Given the description of an element on the screen output the (x, y) to click on. 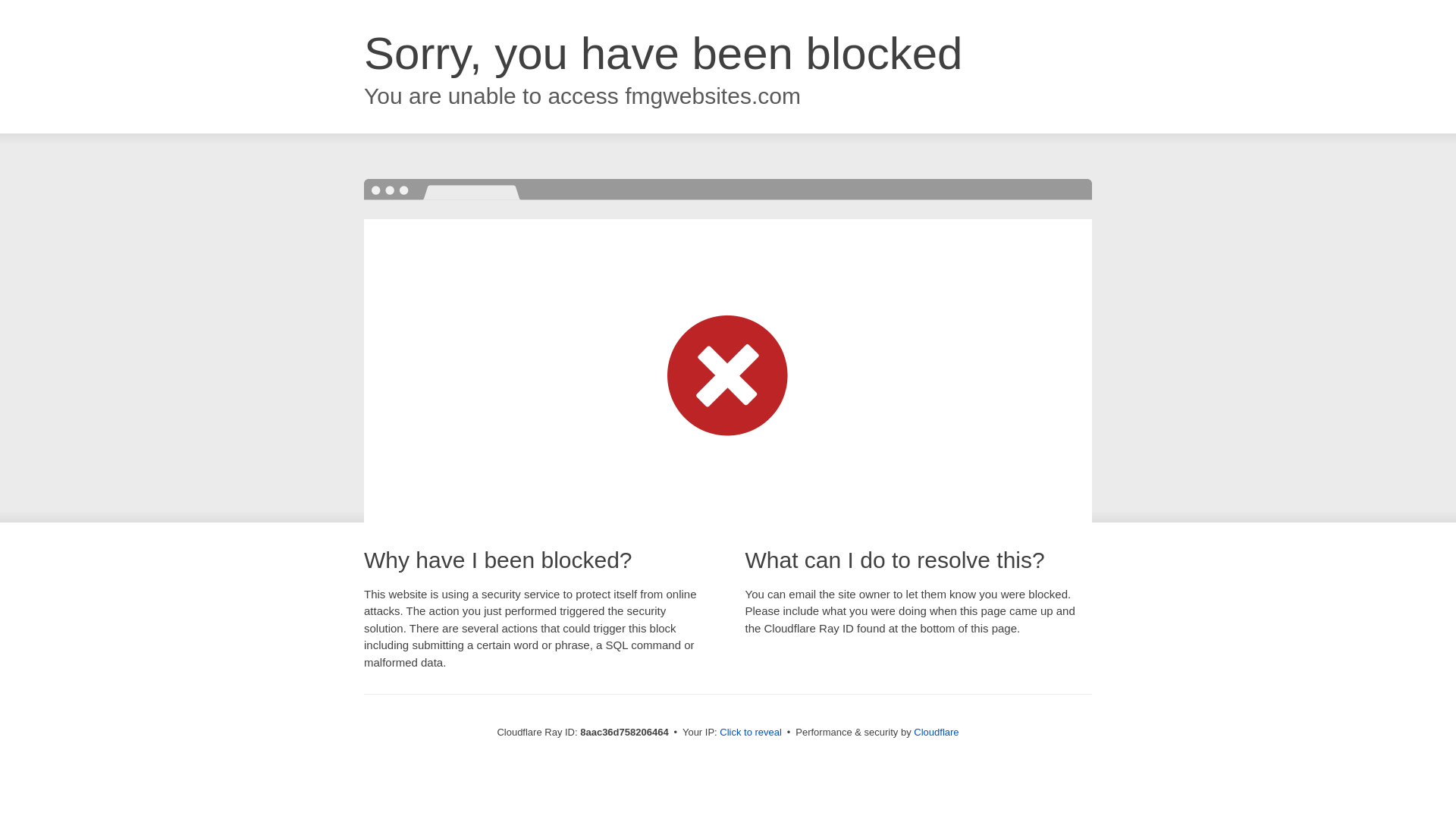
Cloudflare (936, 731)
Click to reveal (750, 732)
